Given the description of an element on the screen output the (x, y) to click on. 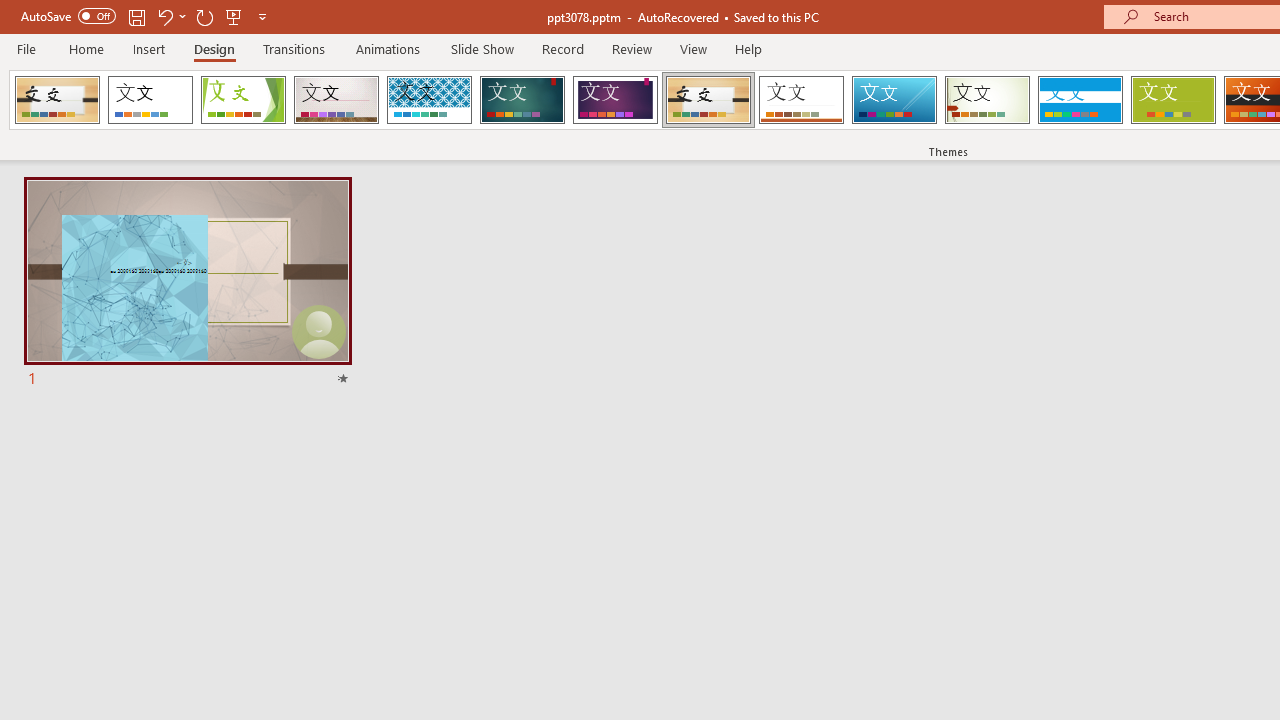
Office Theme (150, 100)
Organic (708, 100)
Wisp (987, 100)
Ion Boardroom (615, 100)
Slice (893, 100)
